Given the description of an element on the screen output the (x, y) to click on. 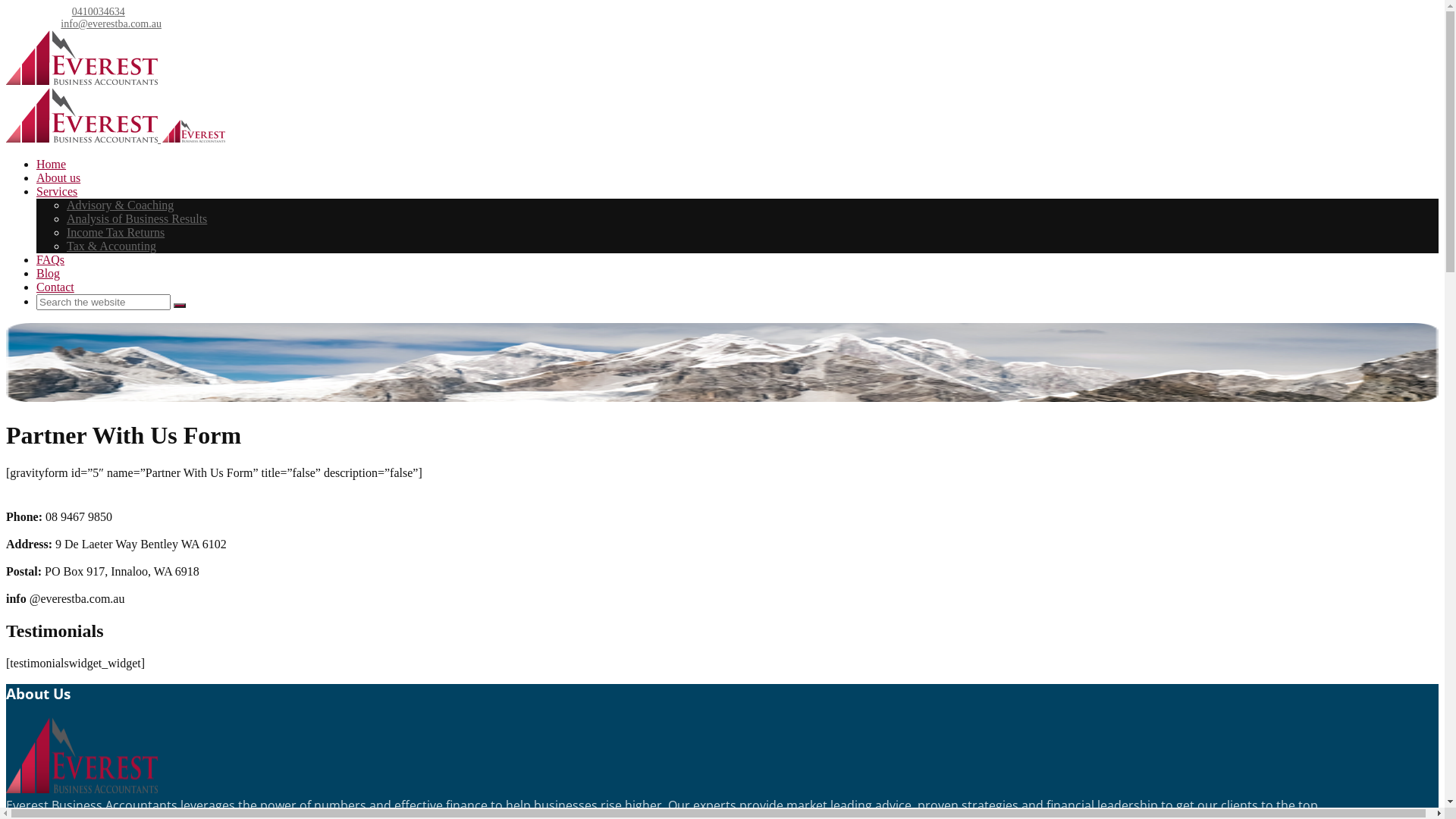
Income Tax Returns Element type: text (115, 231)
Home Element type: text (50, 163)
Services Element type: text (56, 191)
Contact Element type: text (55, 286)
Analysis of Business Results Element type: text (136, 218)
Advisory & Coaching Element type: text (119, 204)
Blog Element type: text (47, 272)
About us Element type: text (58, 177)
0410034634 Element type: text (98, 11)
info@everestba.com.au Element type: text (110, 23)
FAQs Element type: text (50, 259)
Tax & Accounting Element type: text (111, 245)
